Given the description of an element on the screen output the (x, y) to click on. 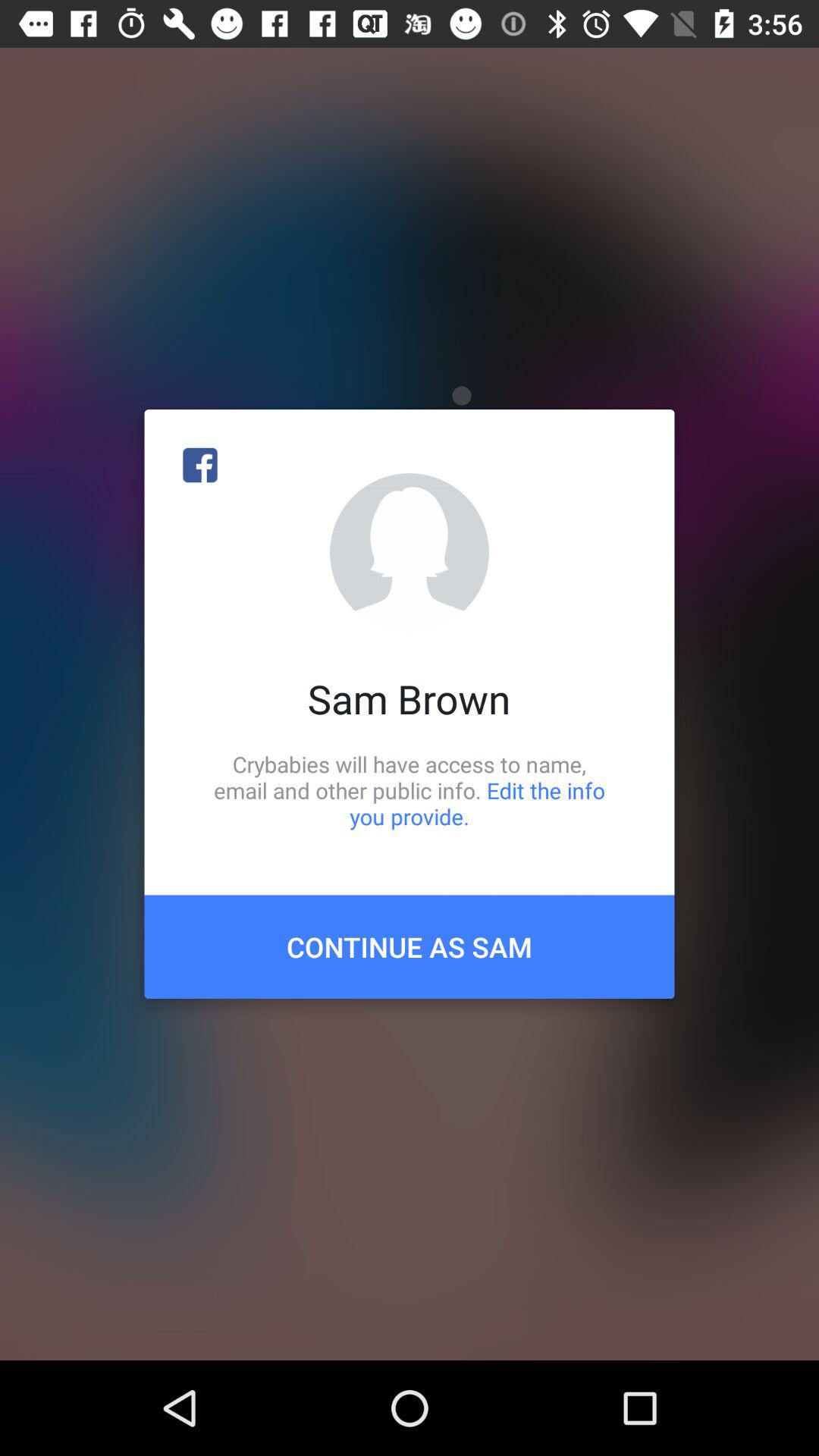
select the icon below sam brown item (409, 790)
